Given the description of an element on the screen output the (x, y) to click on. 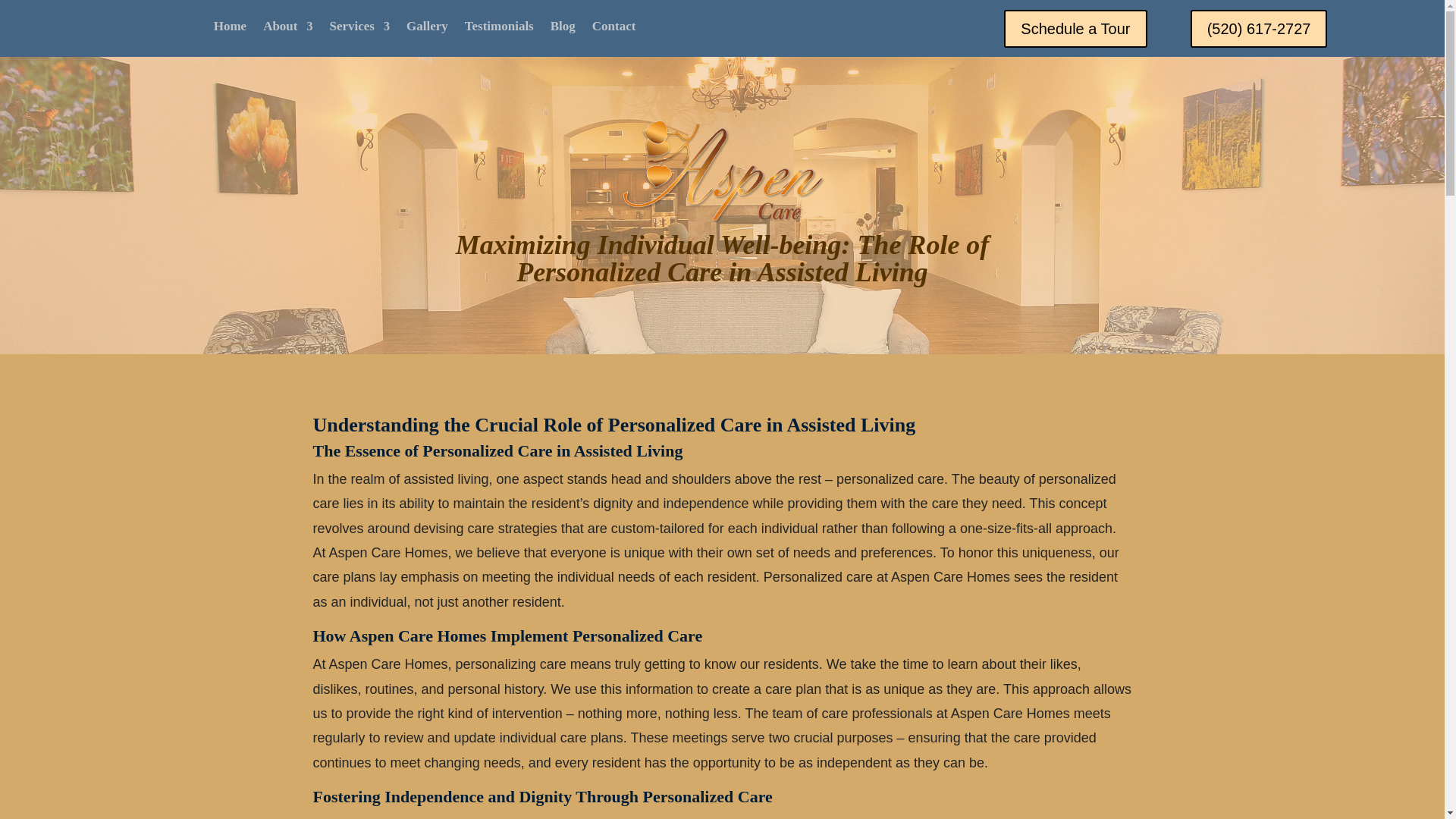
Home (230, 29)
Testimonials (499, 29)
Schedule a Tour (1075, 28)
Services (358, 29)
Blog (562, 29)
Contact (614, 29)
About (288, 29)
LogoTitle (722, 171)
Gallery (427, 29)
